Given the description of an element on the screen output the (x, y) to click on. 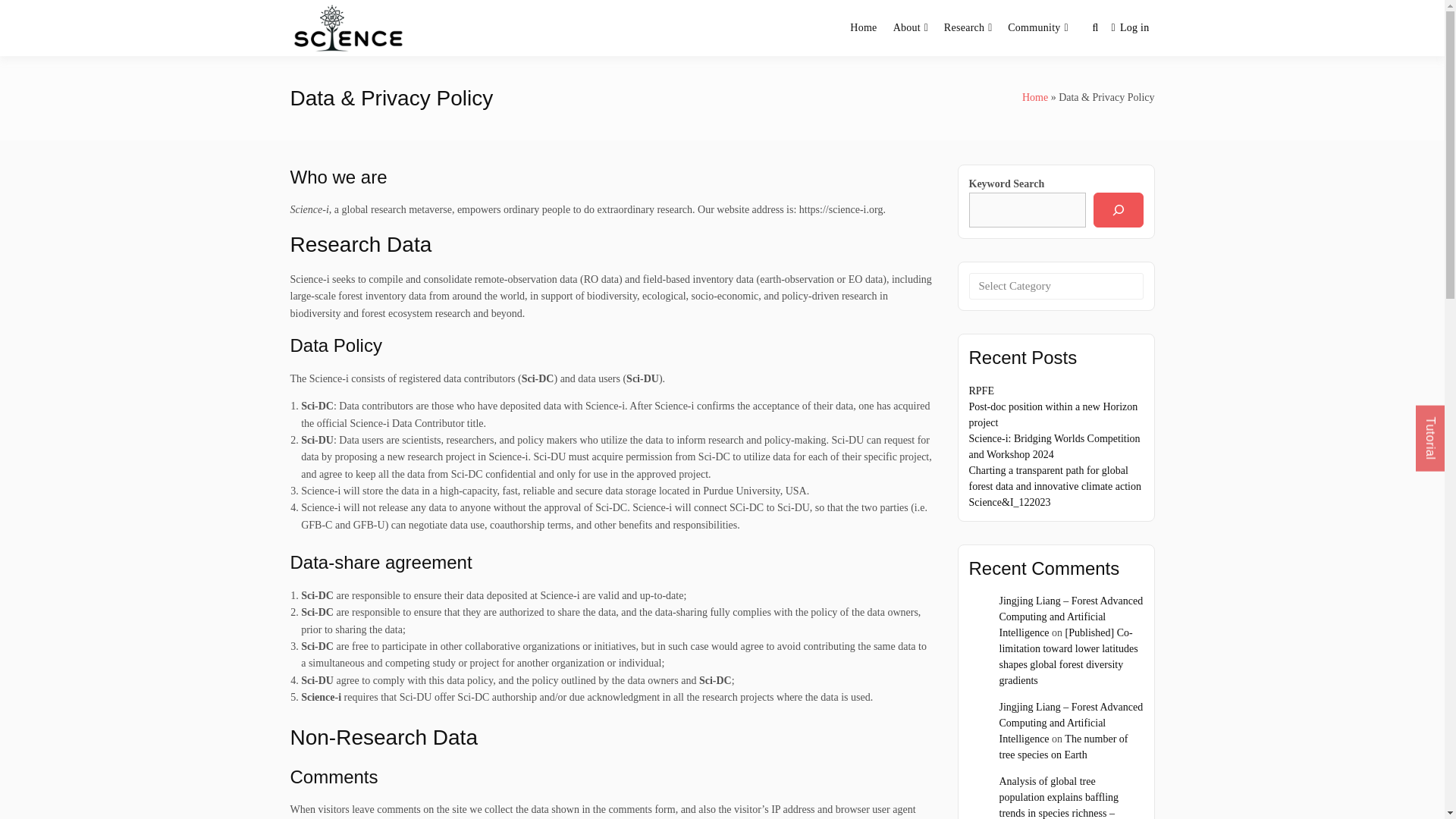
Login (1129, 28)
Science-i (460, 46)
Research (964, 28)
